Given the description of an element on the screen output the (x, y) to click on. 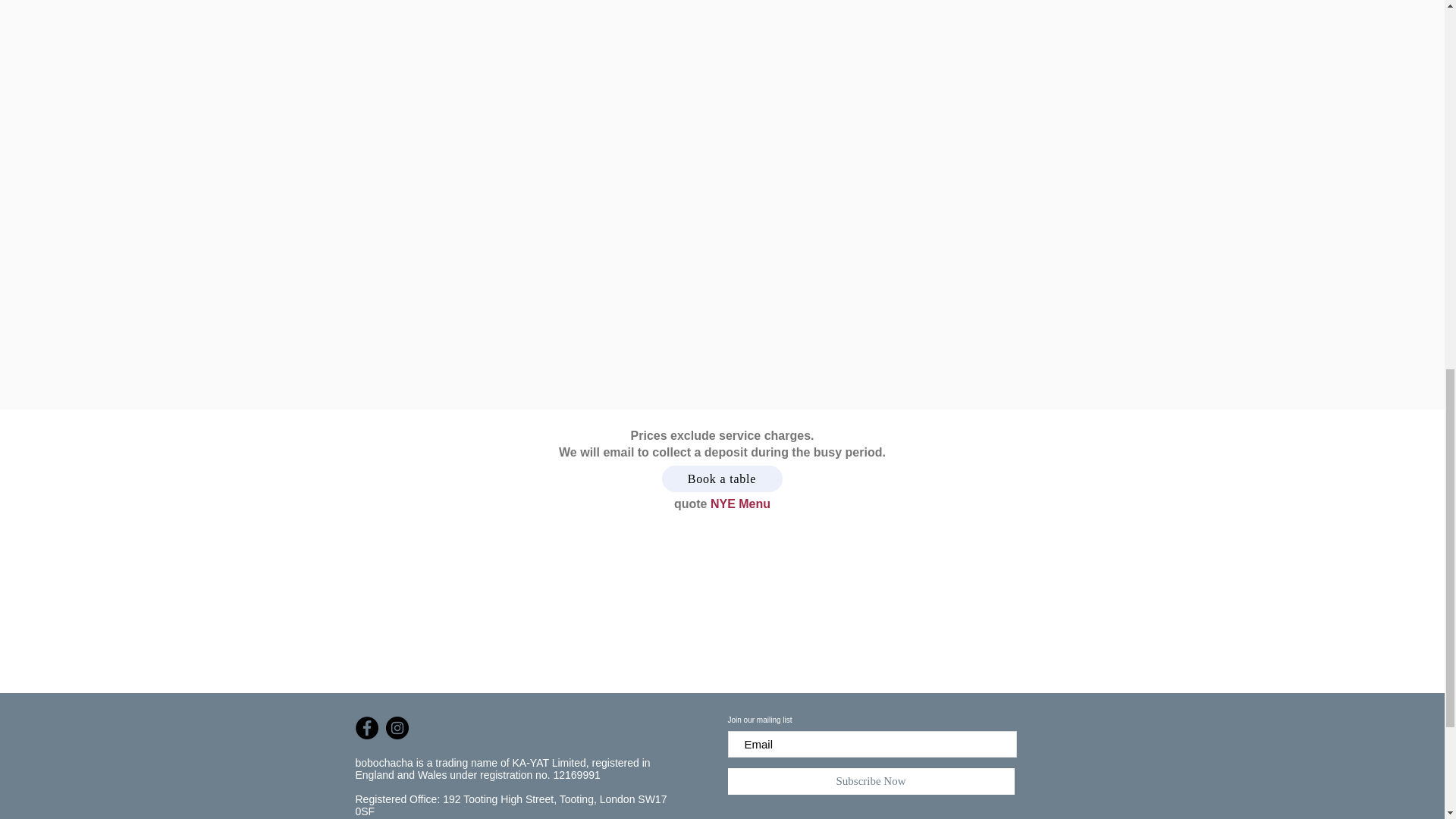
Book a table (721, 479)
Subscribe Now (871, 781)
